Given the description of an element on the screen output the (x, y) to click on. 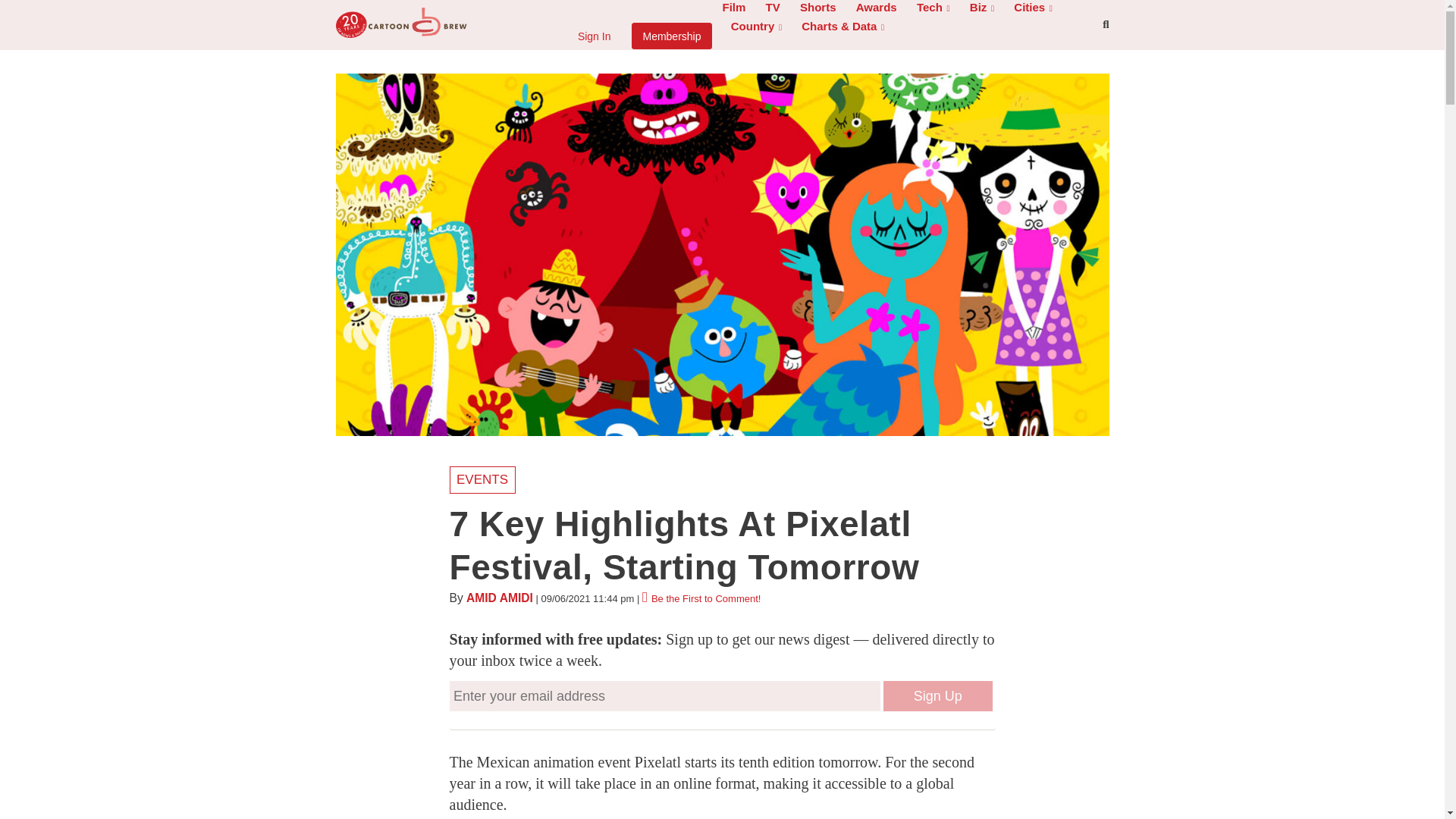
Shorts (818, 9)
Events (481, 479)
Membership (671, 35)
Become a Cartoon Brew member (671, 35)
Country (756, 28)
TV (773, 9)
Amid Amidi (498, 597)
Cities (1033, 9)
Awards (876, 9)
Tech (933, 9)
Sign In (594, 36)
Film (733, 9)
Biz (981, 9)
